Given the description of an element on the screen output the (x, y) to click on. 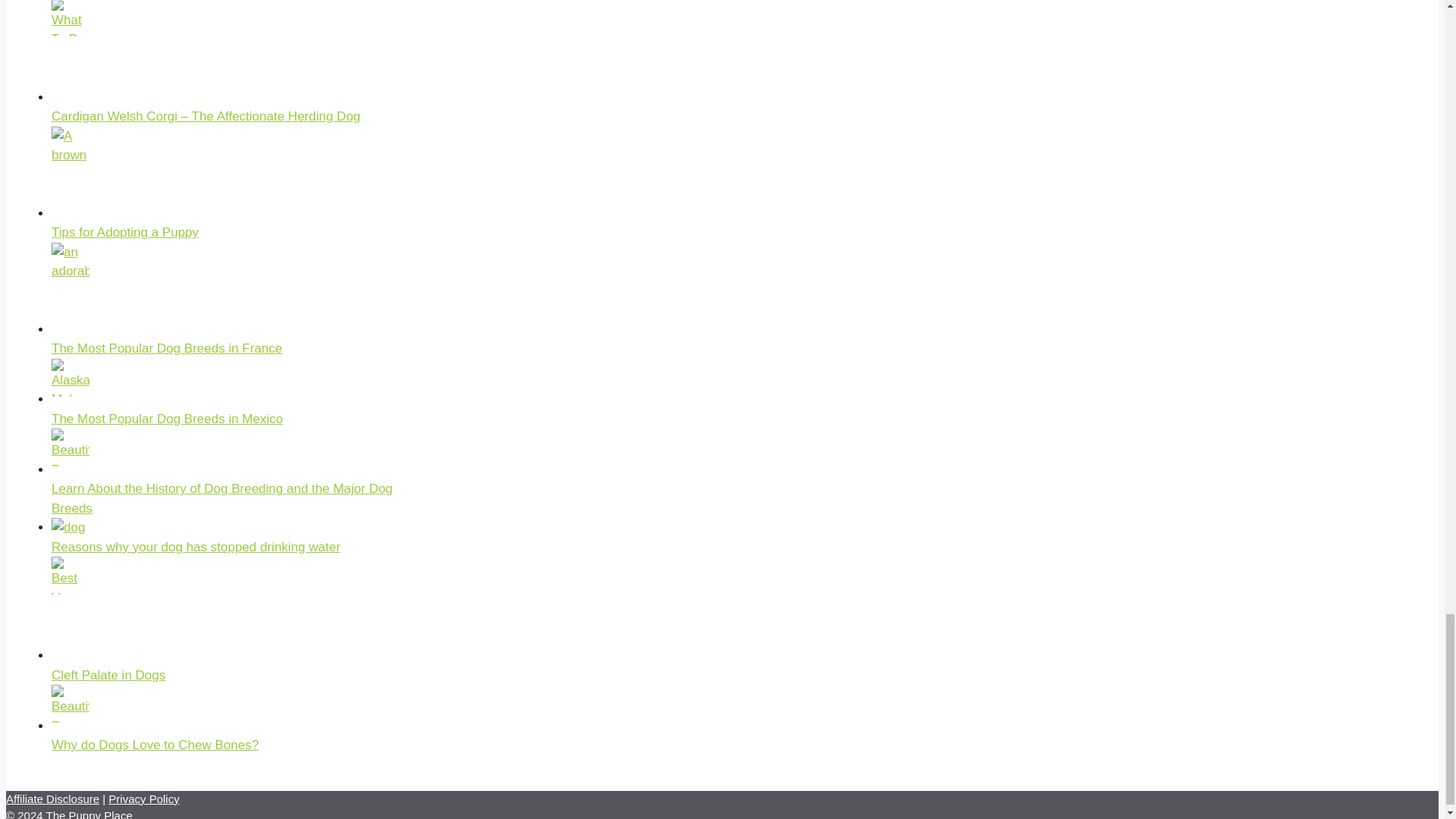
The Most Popular Dog Breeds in France (166, 348)
Affiliate Disclosure (52, 798)
Privacy Policy (143, 798)
Reasons why your dog has stopped drinking water (195, 546)
Cleft Palate in Dogs (107, 675)
The Most Popular Dog Breeds in Mexico (166, 418)
Why do Dogs Love to Chew Bones? (154, 744)
Tips for Adopting a Puppy (124, 232)
